Given the description of an element on the screen output the (x, y) to click on. 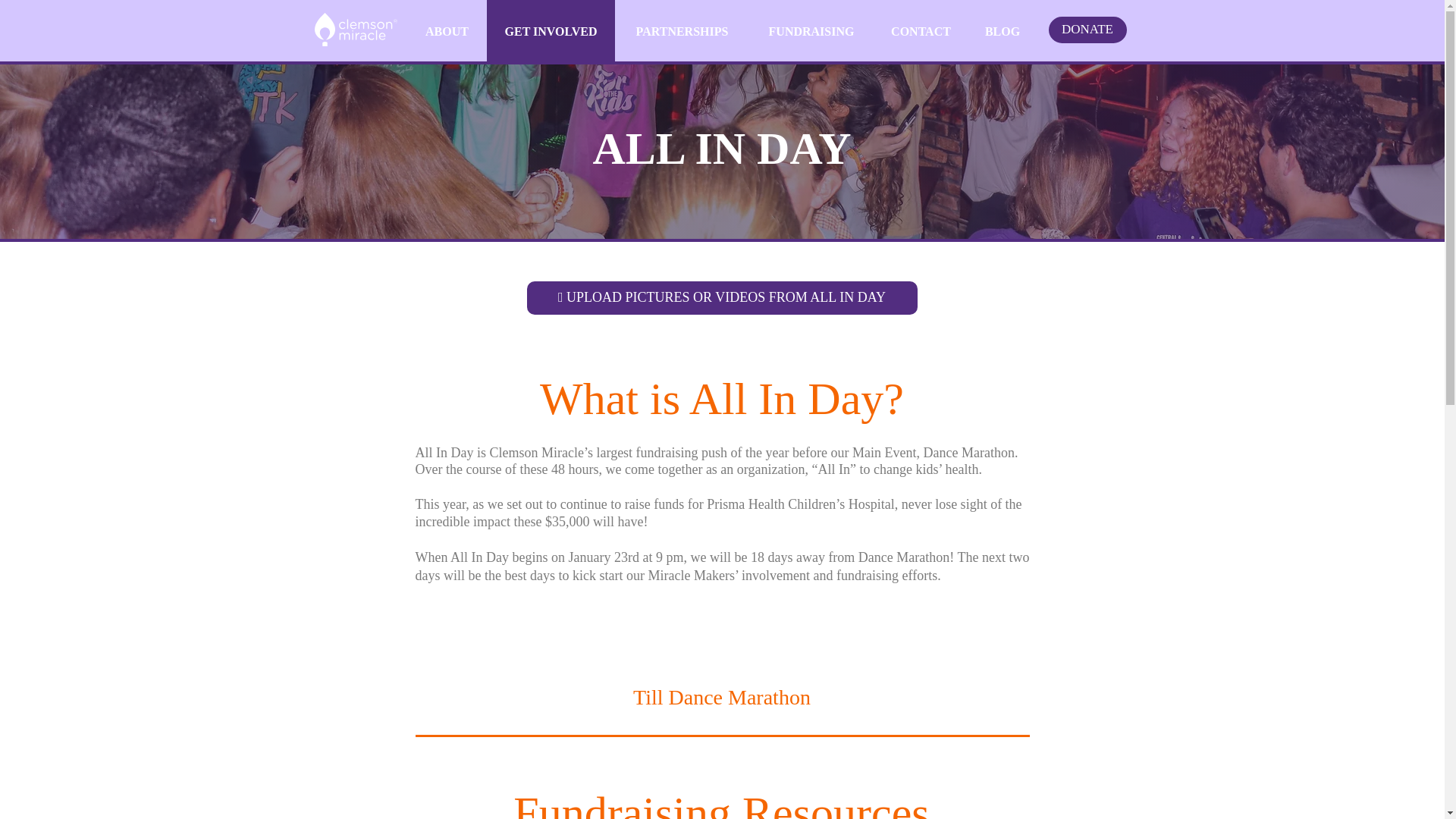
PARTNERSHIPS (681, 31)
BLOG (1001, 31)
CONTACT (920, 31)
FUNDRAISING (811, 31)
DONATE (1086, 29)
GET INVOLVED (550, 31)
ABOUT (446, 31)
